Given the description of an element on the screen output the (x, y) to click on. 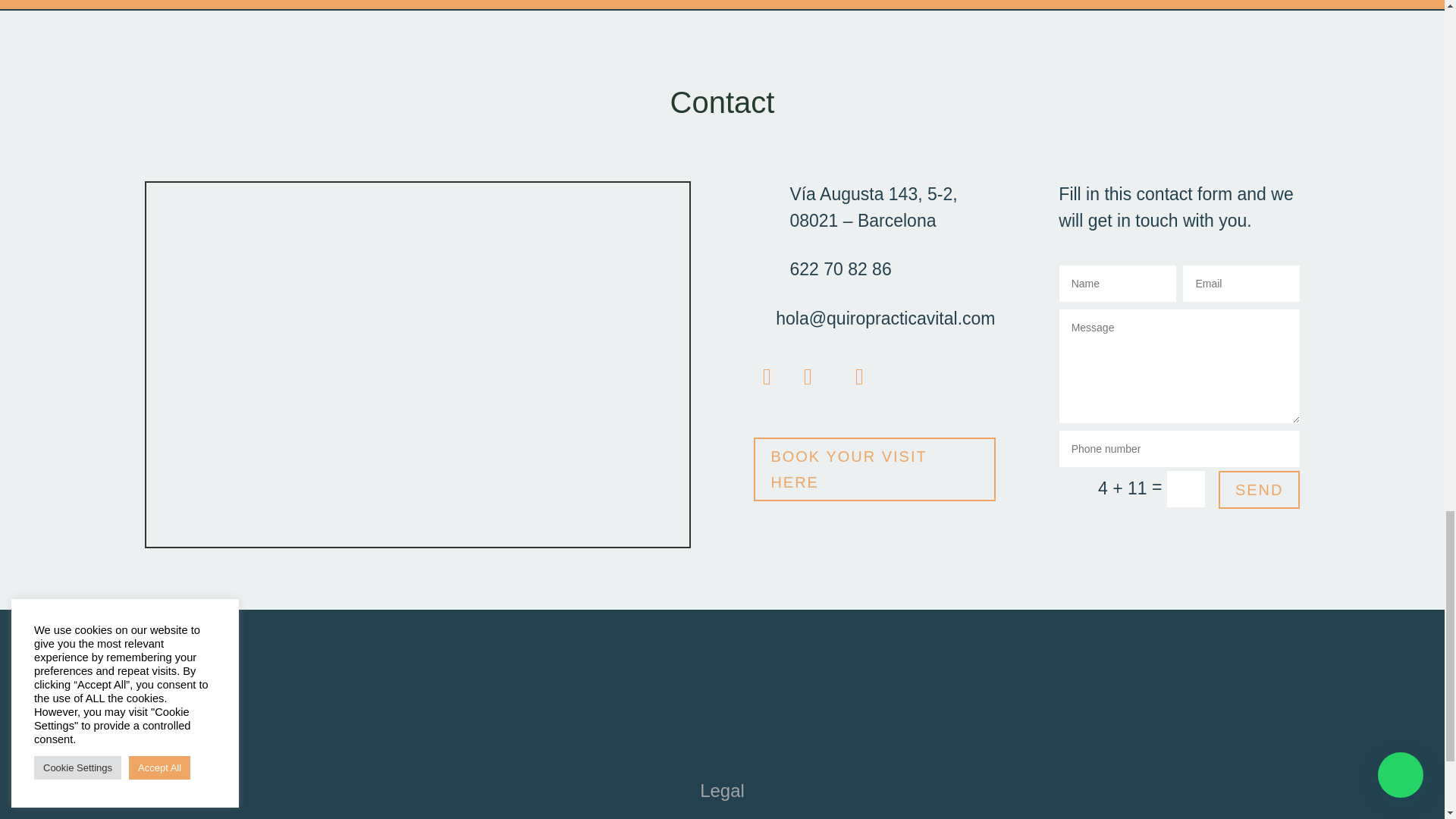
Only numbers allowed. (1179, 448)
logotipo-quiropractica-vital (721, 701)
Follow on Youtube (858, 376)
Follow on Facebook (766, 376)
Follow on Instagram (806, 376)
